Given the description of an element on the screen output the (x, y) to click on. 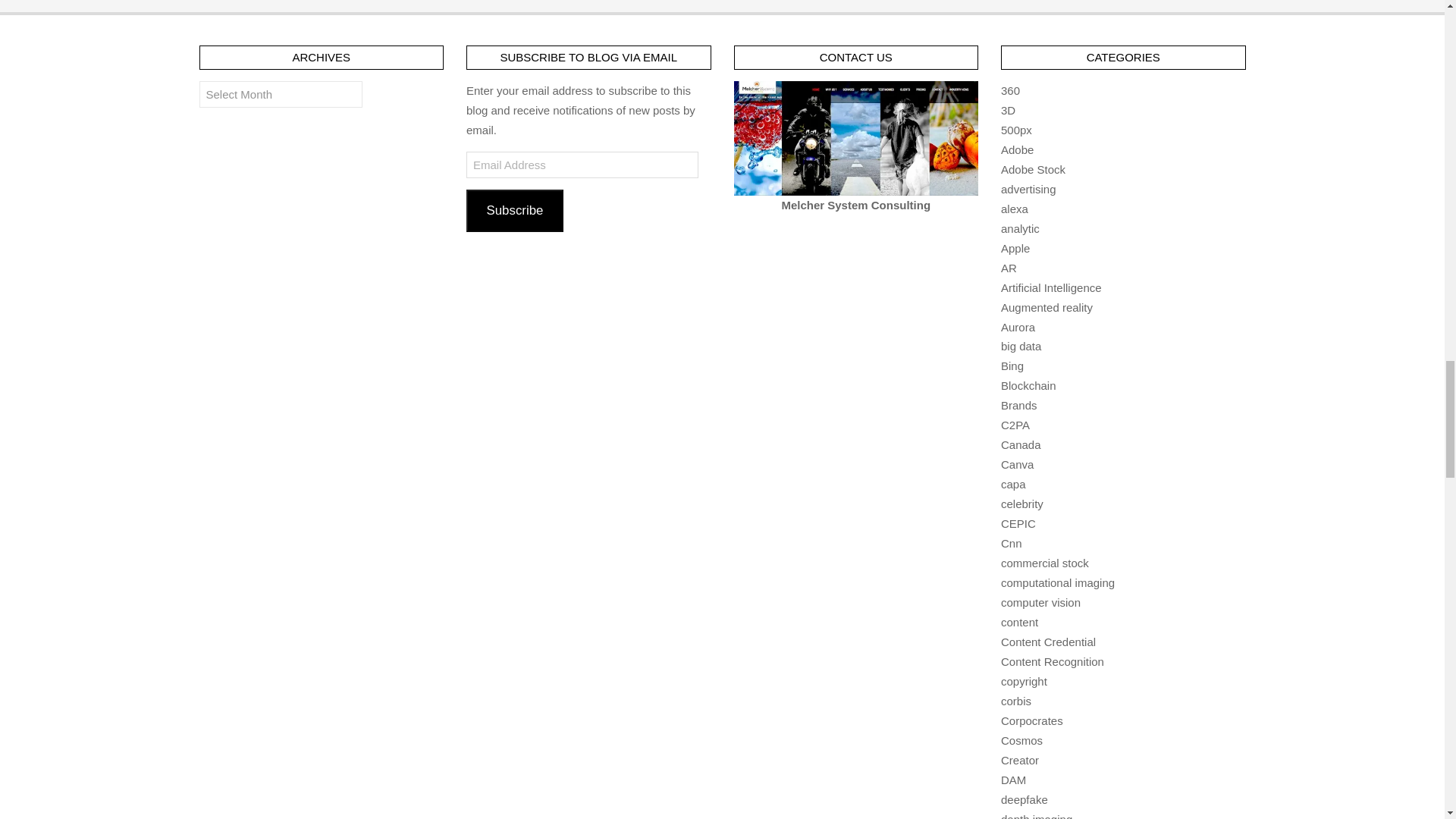
3D (1007, 110)
500px (1016, 129)
advertising (1029, 188)
Subscribe (514, 210)
Artificial Intelligence (1051, 287)
Adobe Stock (1033, 169)
Apple (1015, 247)
alexa (1014, 208)
Augmented reality (1047, 307)
analytic (1020, 228)
